Given the description of an element on the screen output the (x, y) to click on. 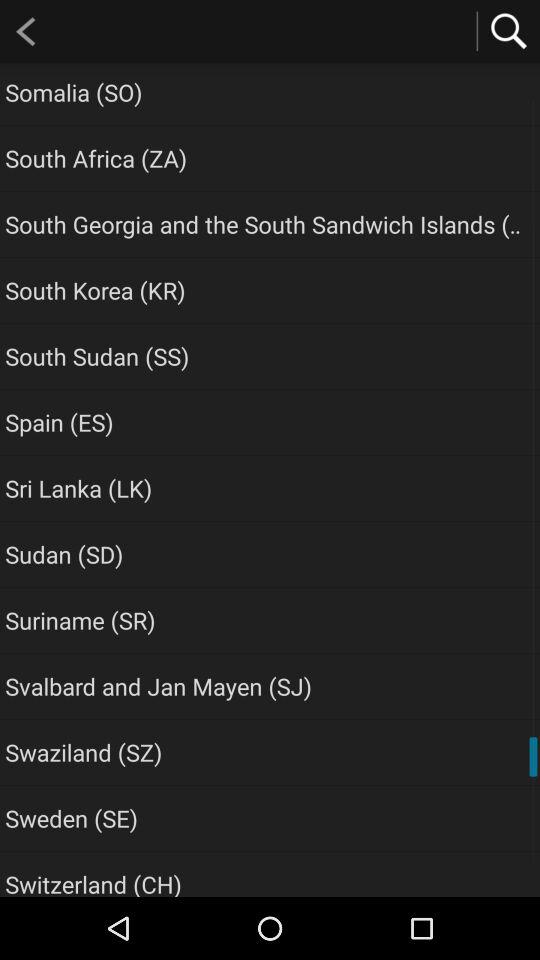
select the app above the svalbard and jan (80, 620)
